Given the description of an element on the screen output the (x, y) to click on. 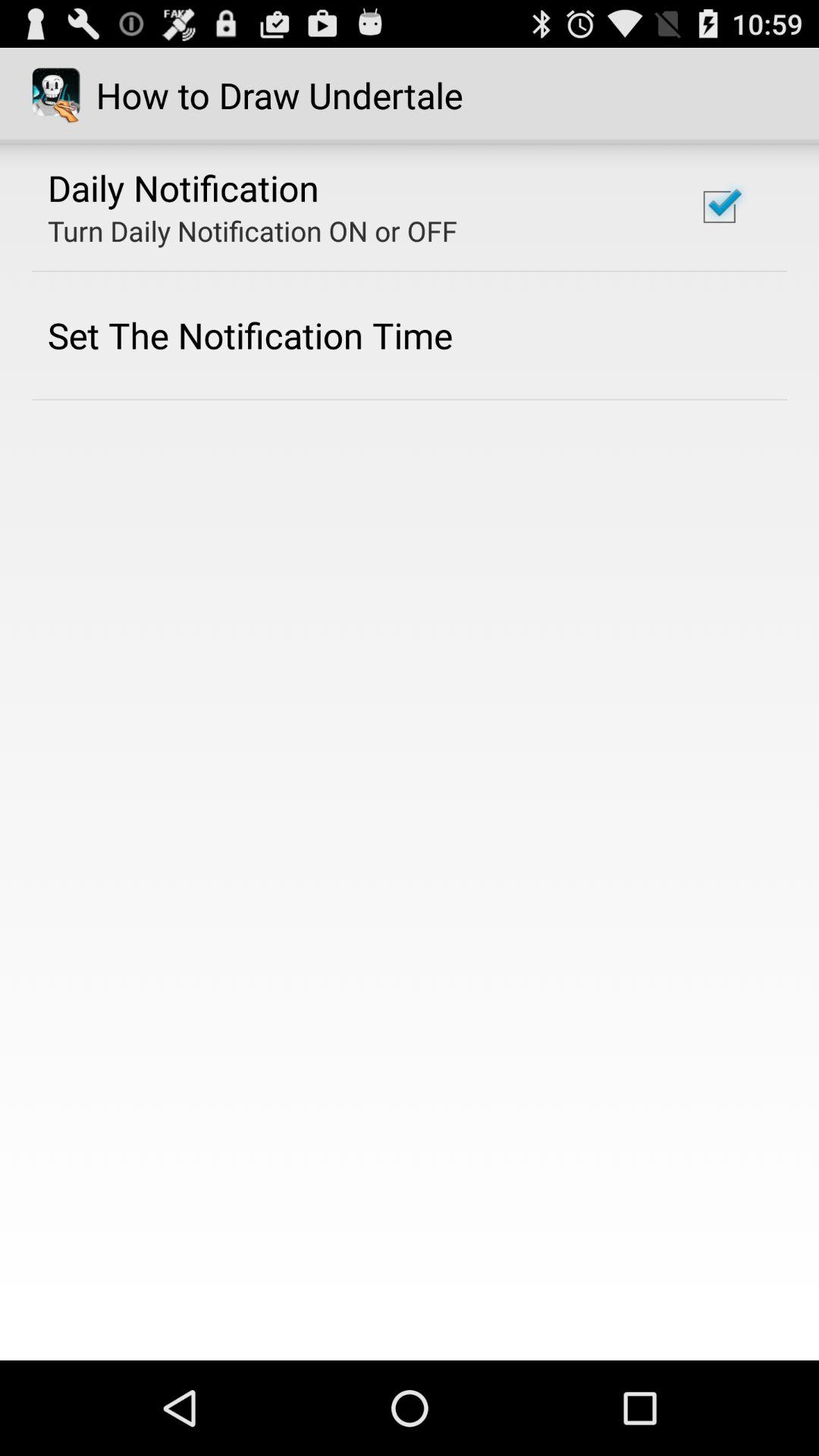
tap icon at the top right corner (719, 206)
